Given the description of an element on the screen output the (x, y) to click on. 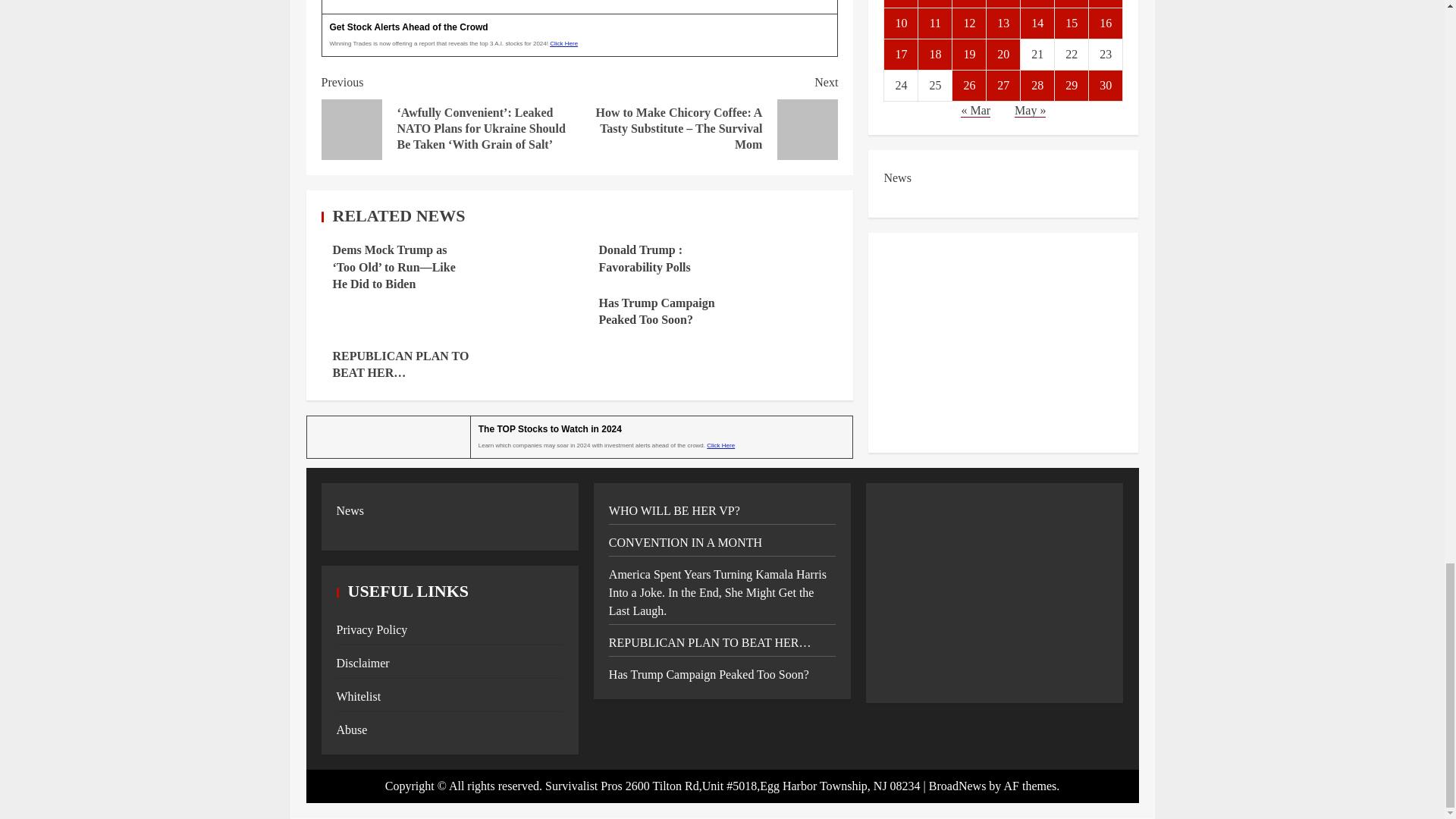
Has Trump Campaign Peaked Too Soon? (656, 310)
Donald Trump : Favorability Polls (644, 257)
